Given the description of an element on the screen output the (x, y) to click on. 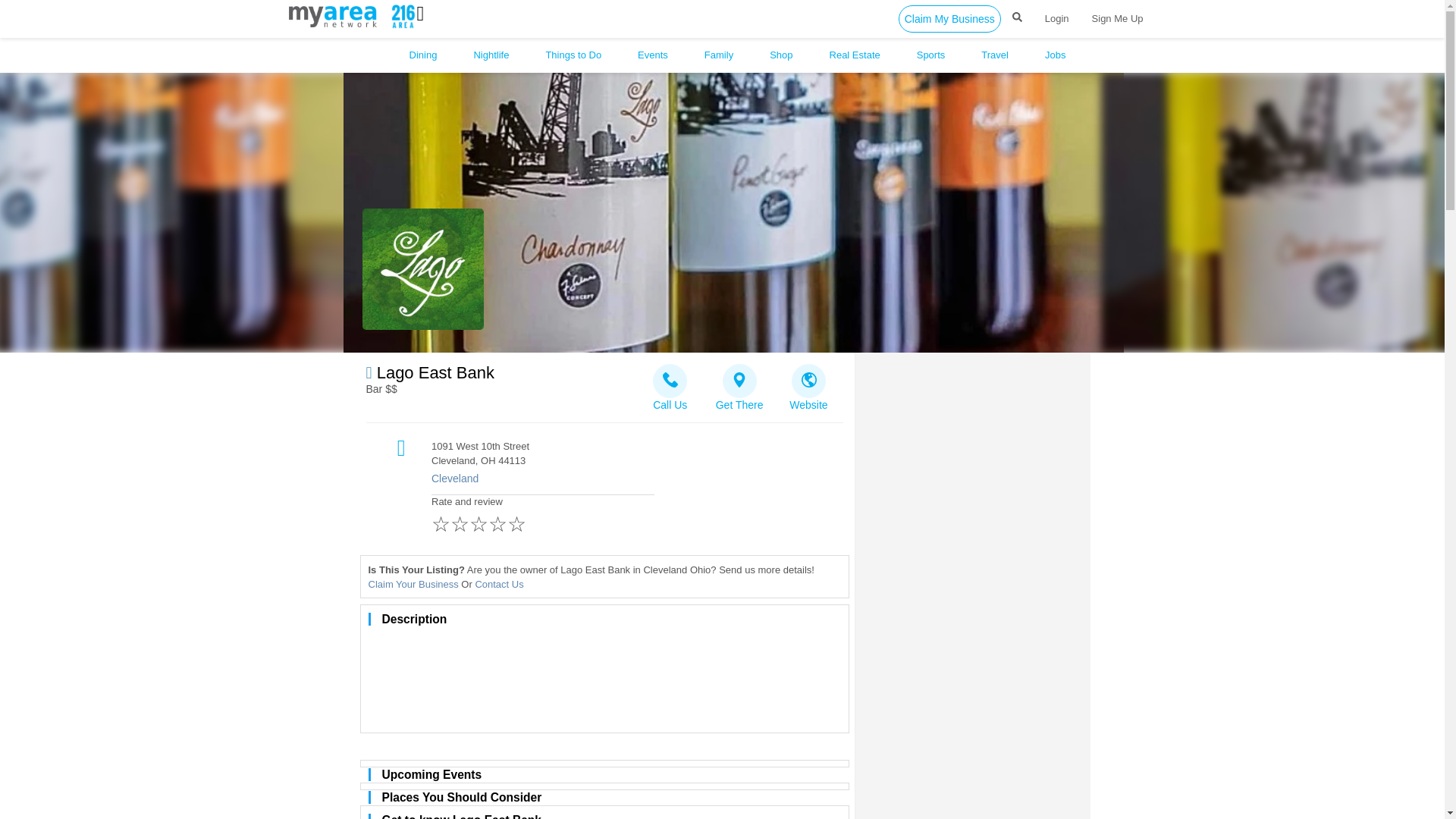
Login (1056, 18)
Login (1056, 18)
Website (808, 382)
Claim Your Business (413, 583)
Rate and review (541, 516)
Sign Me Up (1117, 18)
Sign Me Up (1117, 18)
Claim My Business (949, 18)
Claim My Business (949, 18)
Call Us (670, 382)
